Given the description of an element on the screen output the (x, y) to click on. 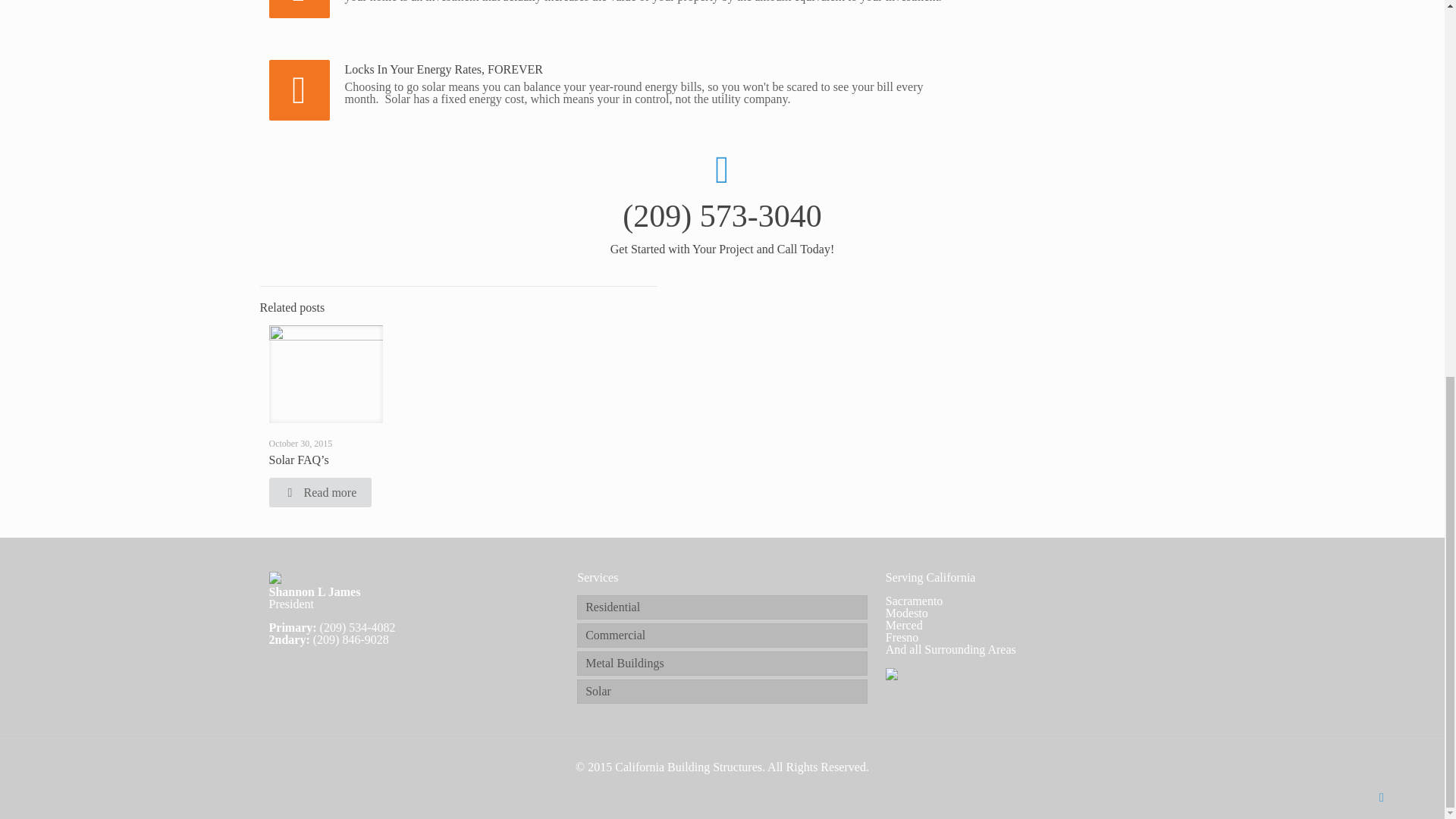
Read more (319, 491)
Residential (721, 607)
Metal Buildings (721, 663)
Solar (721, 691)
Commercial (721, 635)
